Given the description of an element on the screen output the (x, y) to click on. 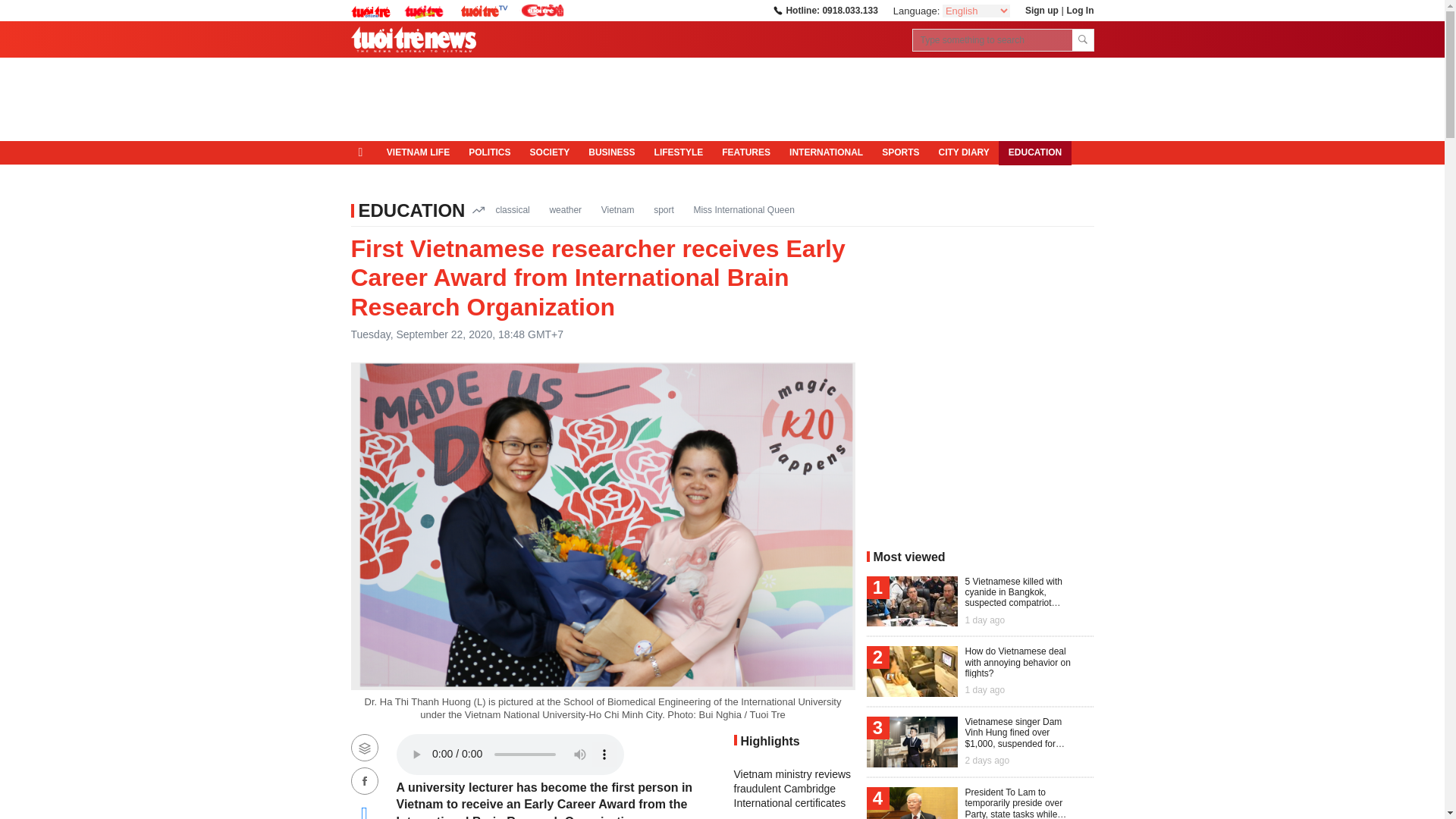
Features (746, 152)
Hotline: 0918.033.133 (824, 9)
Miss International Queen (743, 209)
Business (612, 152)
Vietnam (617, 209)
EDUCATION (411, 209)
VIETNAM LIFE (417, 152)
SOCIETY (549, 152)
FEATURES (746, 152)
Sports (900, 152)
City Diary (963, 152)
weather (565, 209)
MEDIA (374, 177)
home (363, 152)
INTERNATIONAL (826, 152)
